Given the description of an element on the screen output the (x, y) to click on. 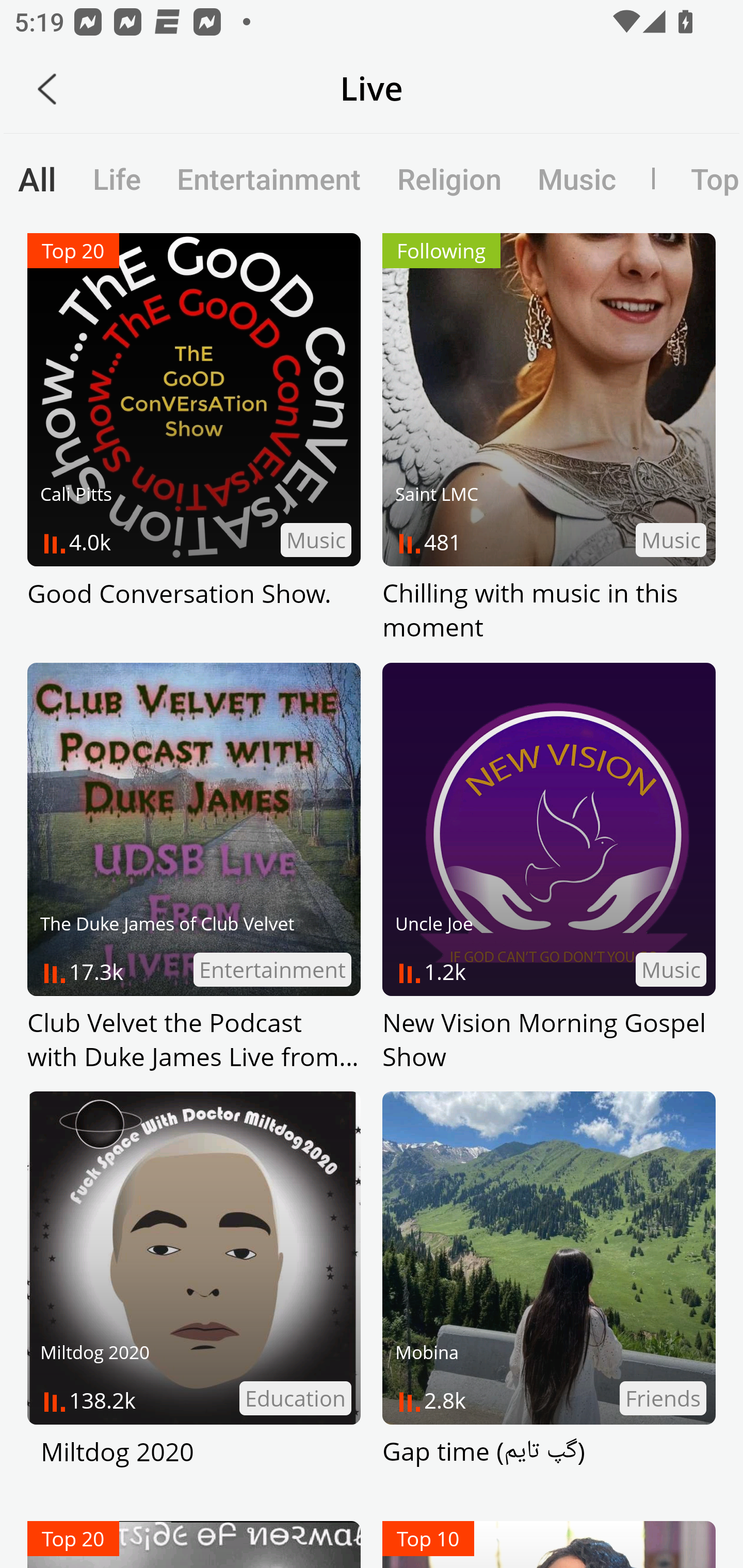
Back (46, 88)
Life (116, 178)
Entertainment (268, 178)
Religion (448, 178)
Music (576, 178)
Miltdog 2020 138.2k Education   Miltdog 2020  (193, 1297)
Mobina 2.8k Friends Gap time (گپ تایم) (548, 1297)
